Given the description of an element on the screen output the (x, y) to click on. 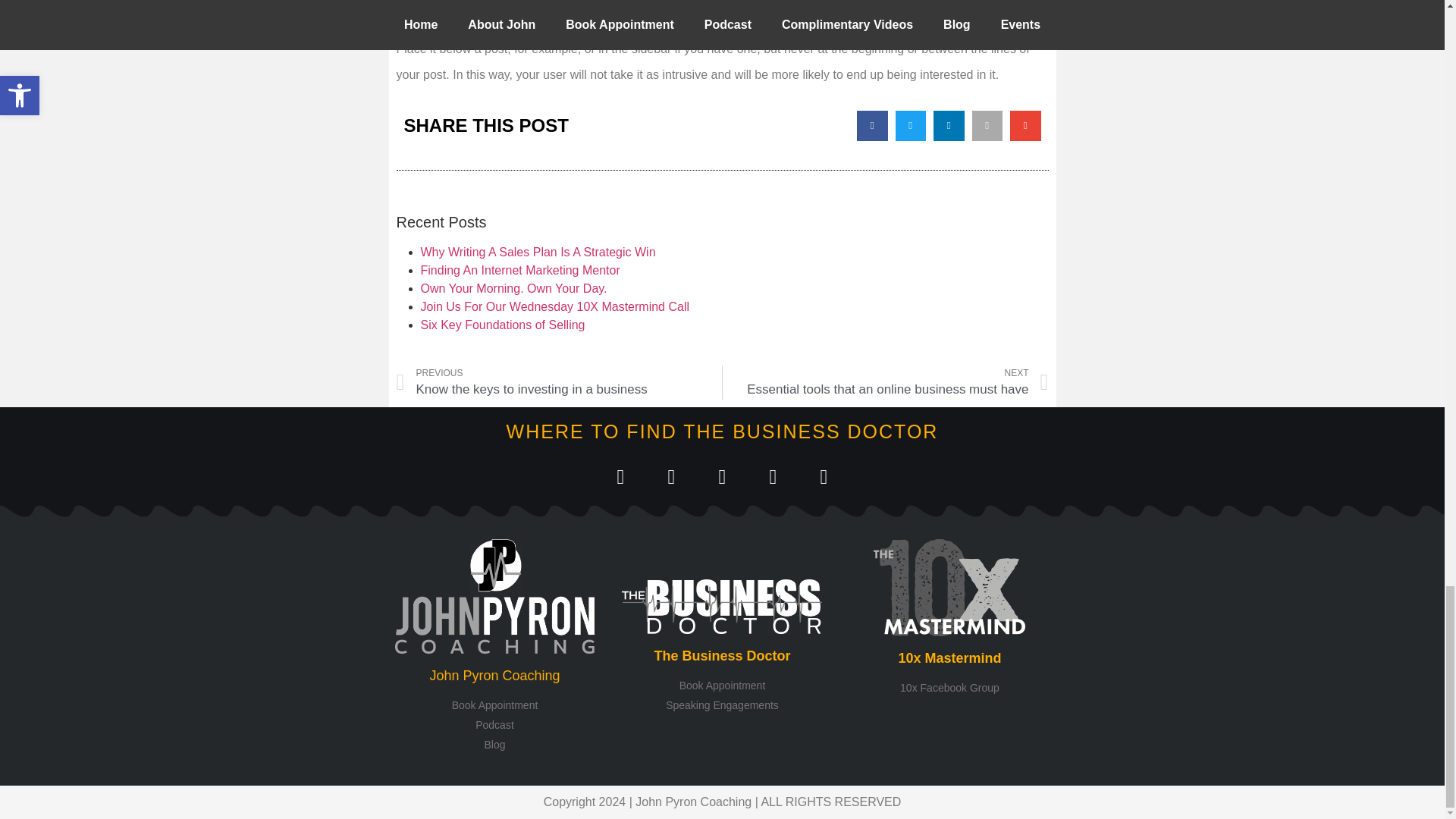
10x-logo-grey.png (949, 587)
